Given the description of an element on the screen output the (x, y) to click on. 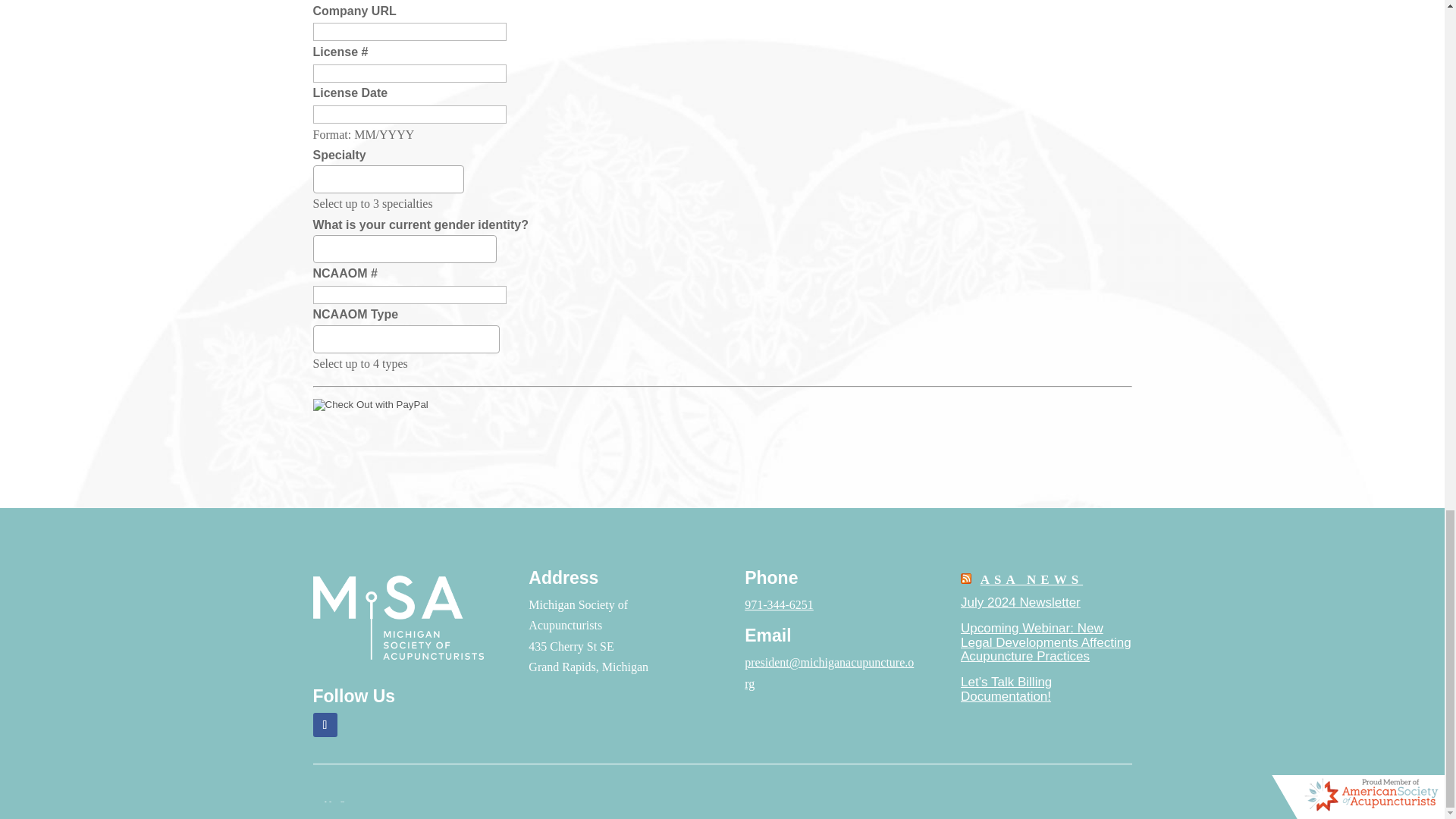
Follow on Facebook (324, 724)
ASA NEWS (1031, 579)
971-344-6251 (778, 604)
July 2024 Newsletter (1020, 601)
Check Out with PayPal (370, 404)
